Given the description of an element on the screen output the (x, y) to click on. 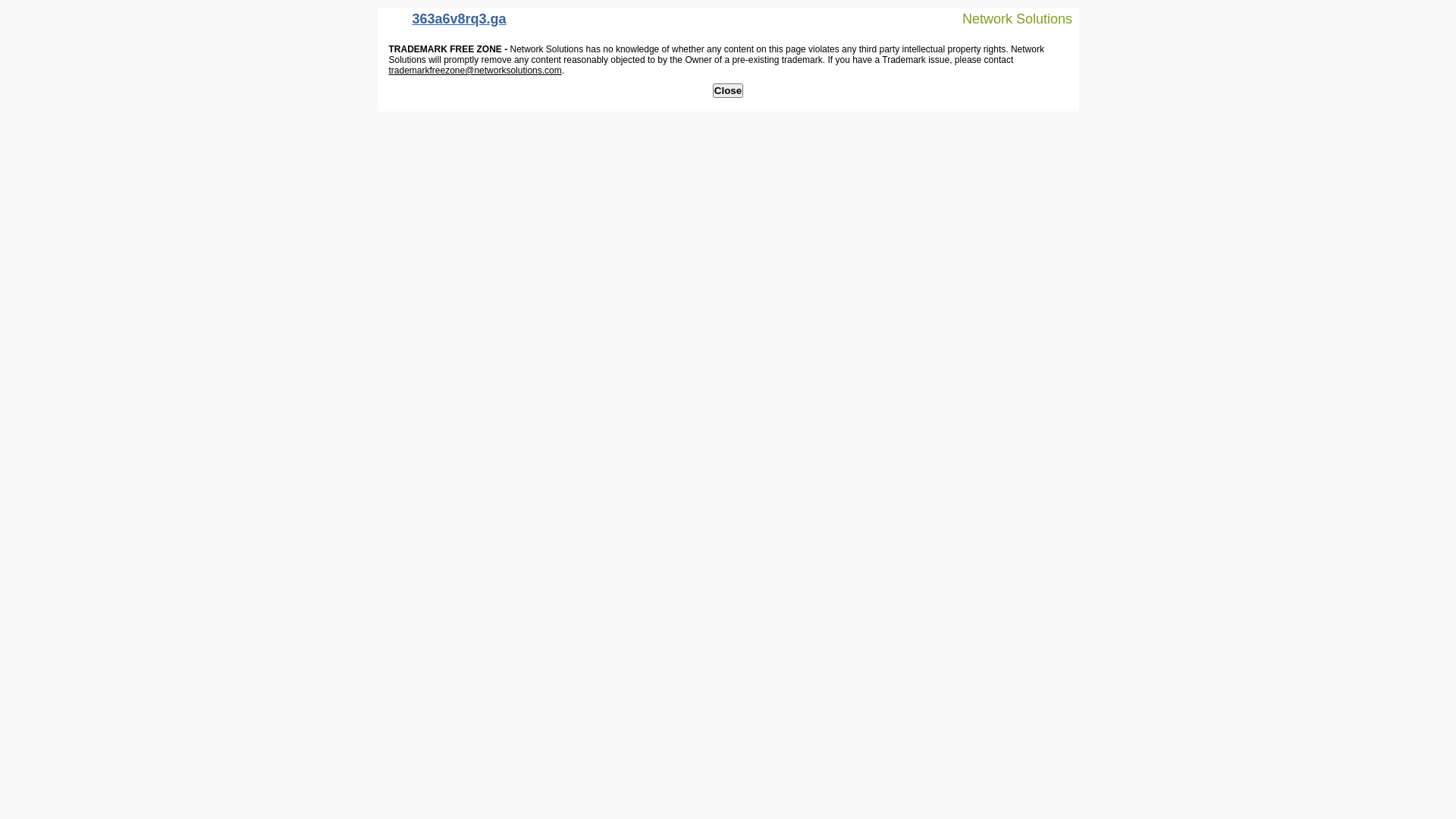
363a6v8rq3.ga Element type: text (445, 21)
Network Solutions Element type: text (1007, 17)
Close Element type: text (727, 90)
trademarkfreezone@networksolutions.com Element type: text (474, 70)
